Given the description of an element on the screen output the (x, y) to click on. 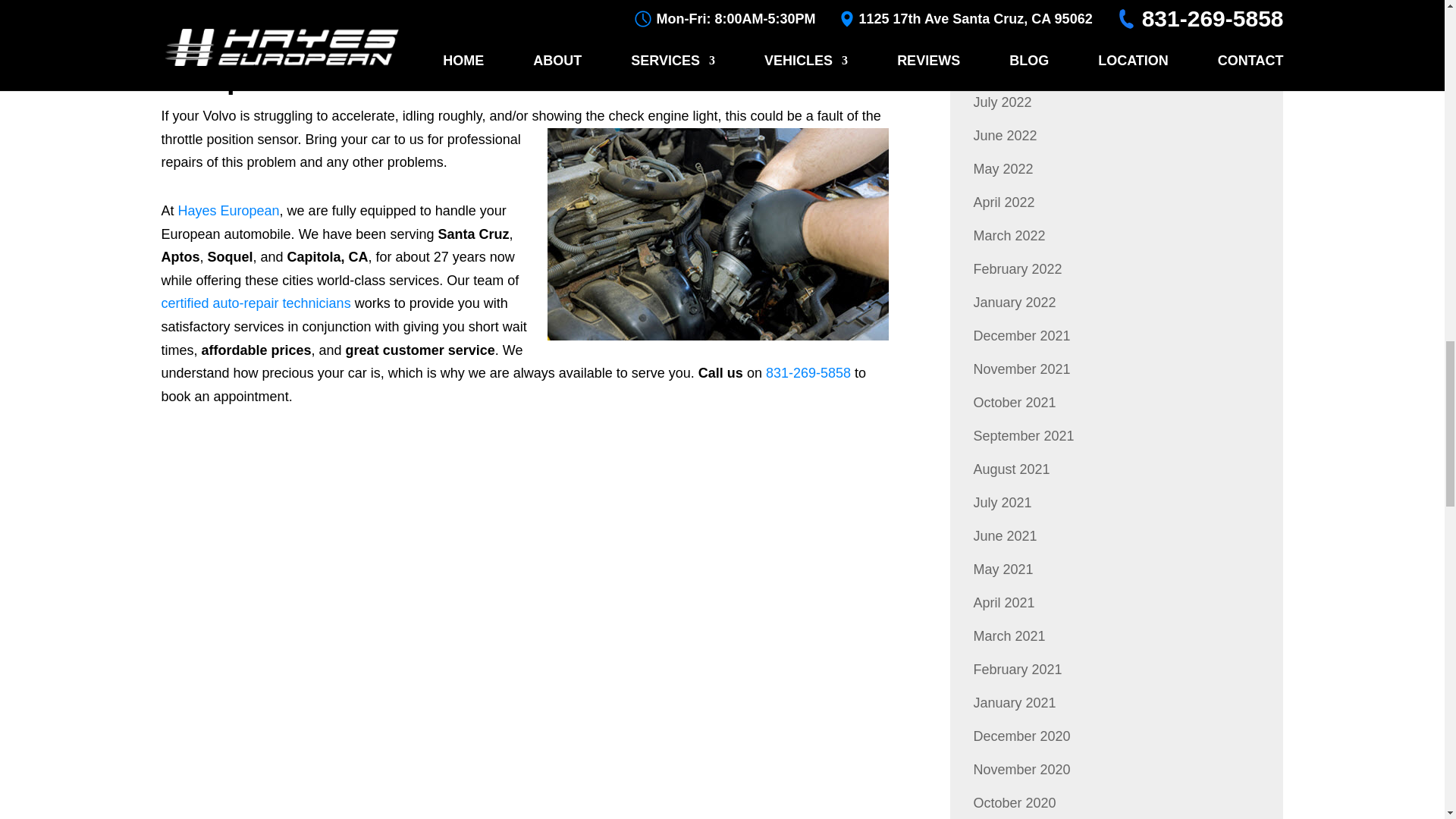
certified auto-repair technicians (255, 303)
Hayes European (228, 210)
831-269-5858 (807, 372)
